Given the description of an element on the screen output the (x, y) to click on. 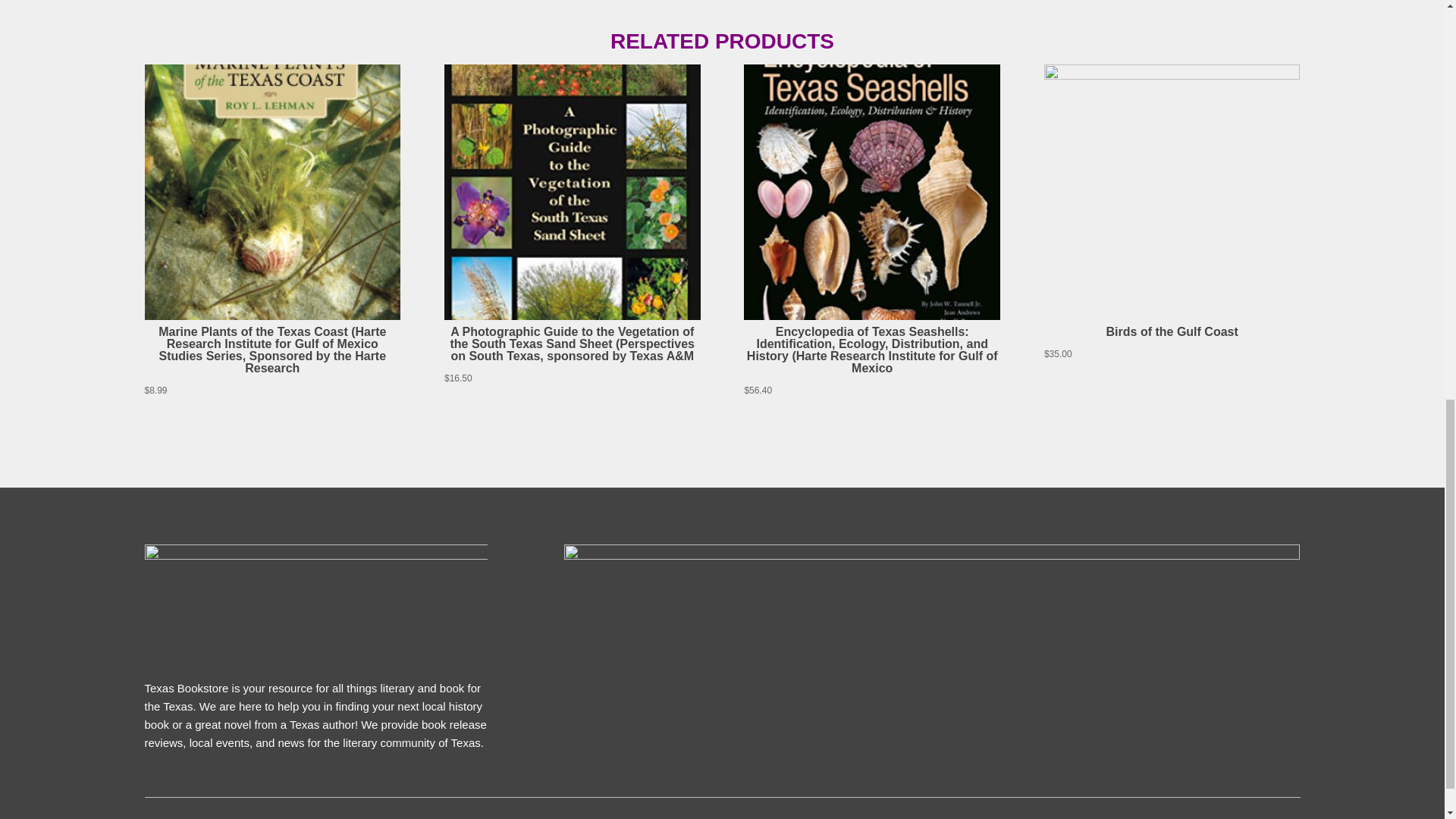
Asset 3 (315, 602)
